Given the description of an element on the screen output the (x, y) to click on. 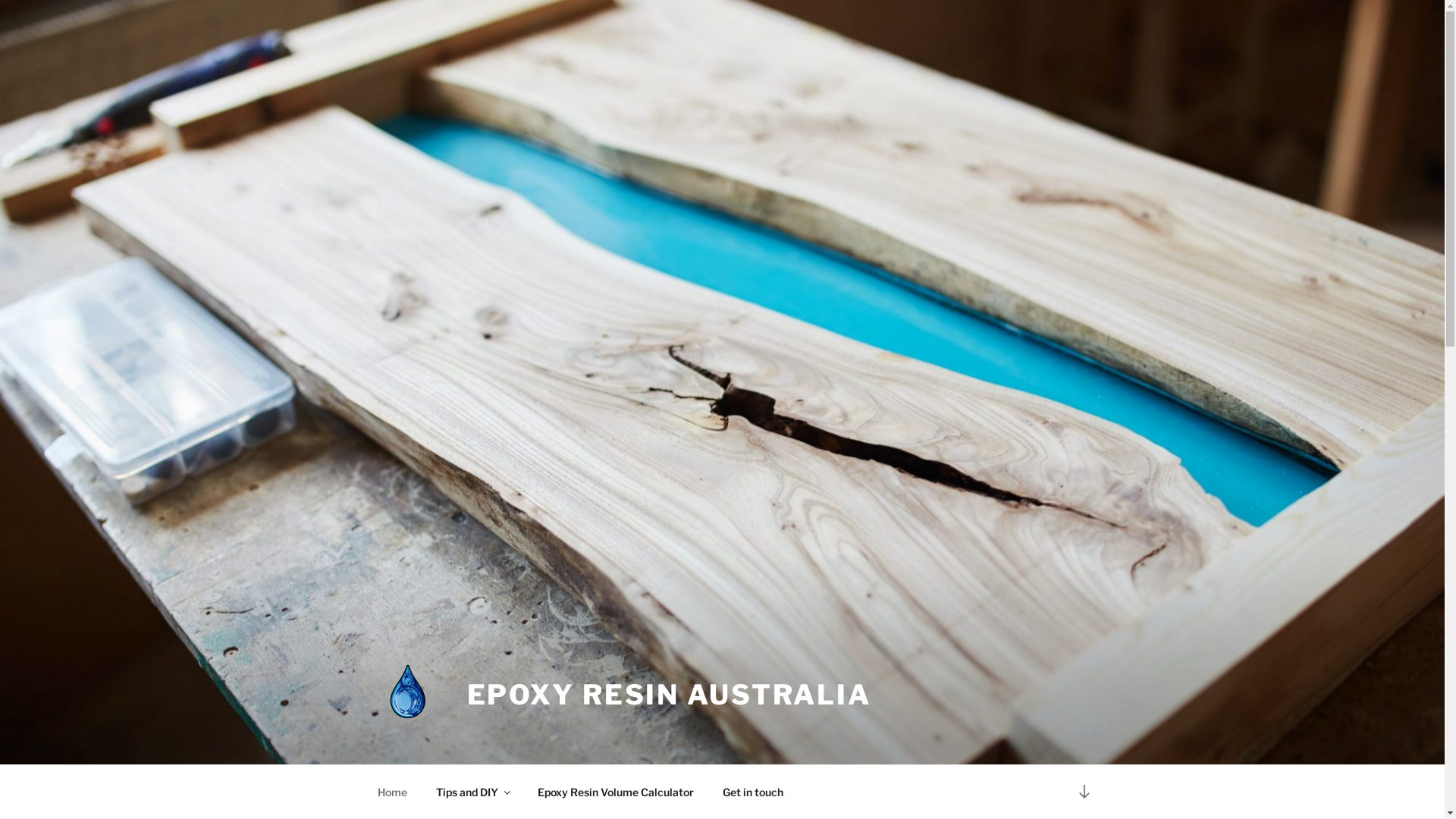
Tips and DIY Element type: text (472, 791)
Scroll down to content Element type: text (1083, 790)
EPOXY RESIN AUSTRALIA Element type: text (669, 694)
Home Element type: text (392, 791)
Get in touch Element type: text (753, 791)
Epoxy Resin Volume Calculator Element type: text (615, 791)
